Given the description of an element on the screen output the (x, y) to click on. 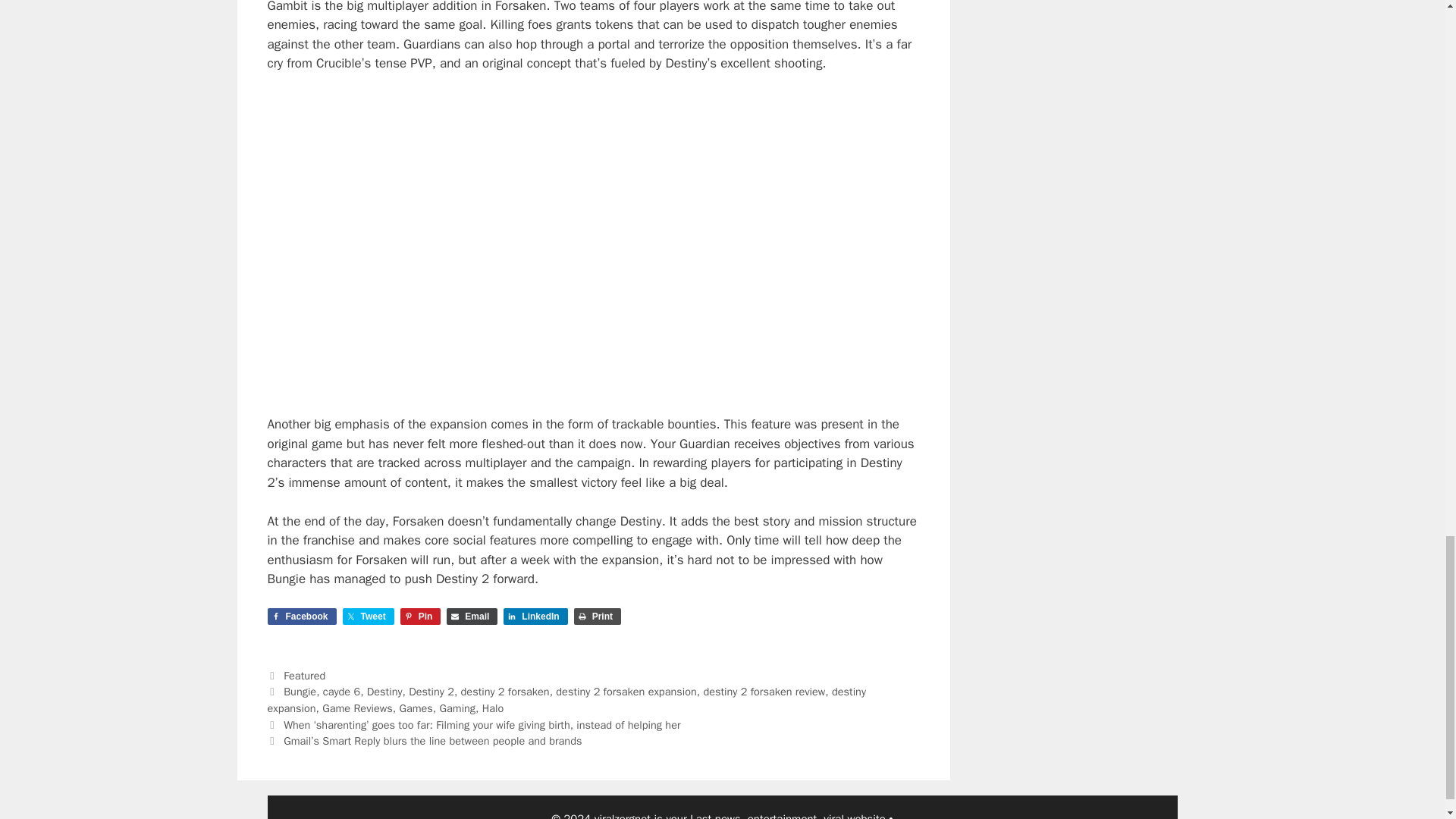
Gaming (457, 707)
Email (471, 616)
Bungie (299, 691)
destiny 2 forsaken expansion (625, 691)
LinkedIn (535, 616)
Email (471, 616)
Tweet (368, 616)
Halo (492, 707)
destiny expansion (565, 699)
Share on Twitter (368, 616)
